Given the description of an element on the screen output the (x, y) to click on. 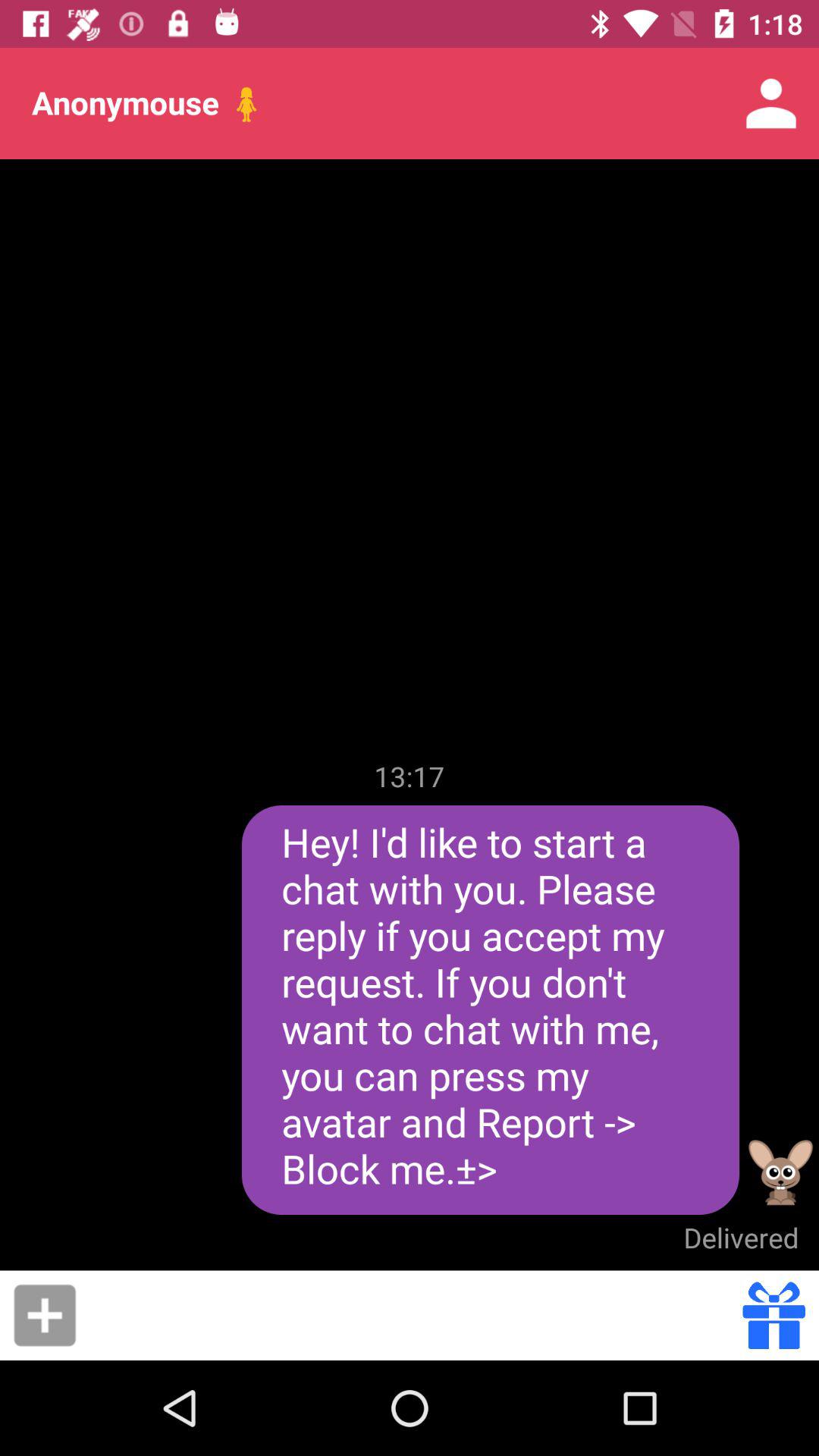
choose the icon next to the hey i d item (780, 1172)
